Given the description of an element on the screen output the (x, y) to click on. 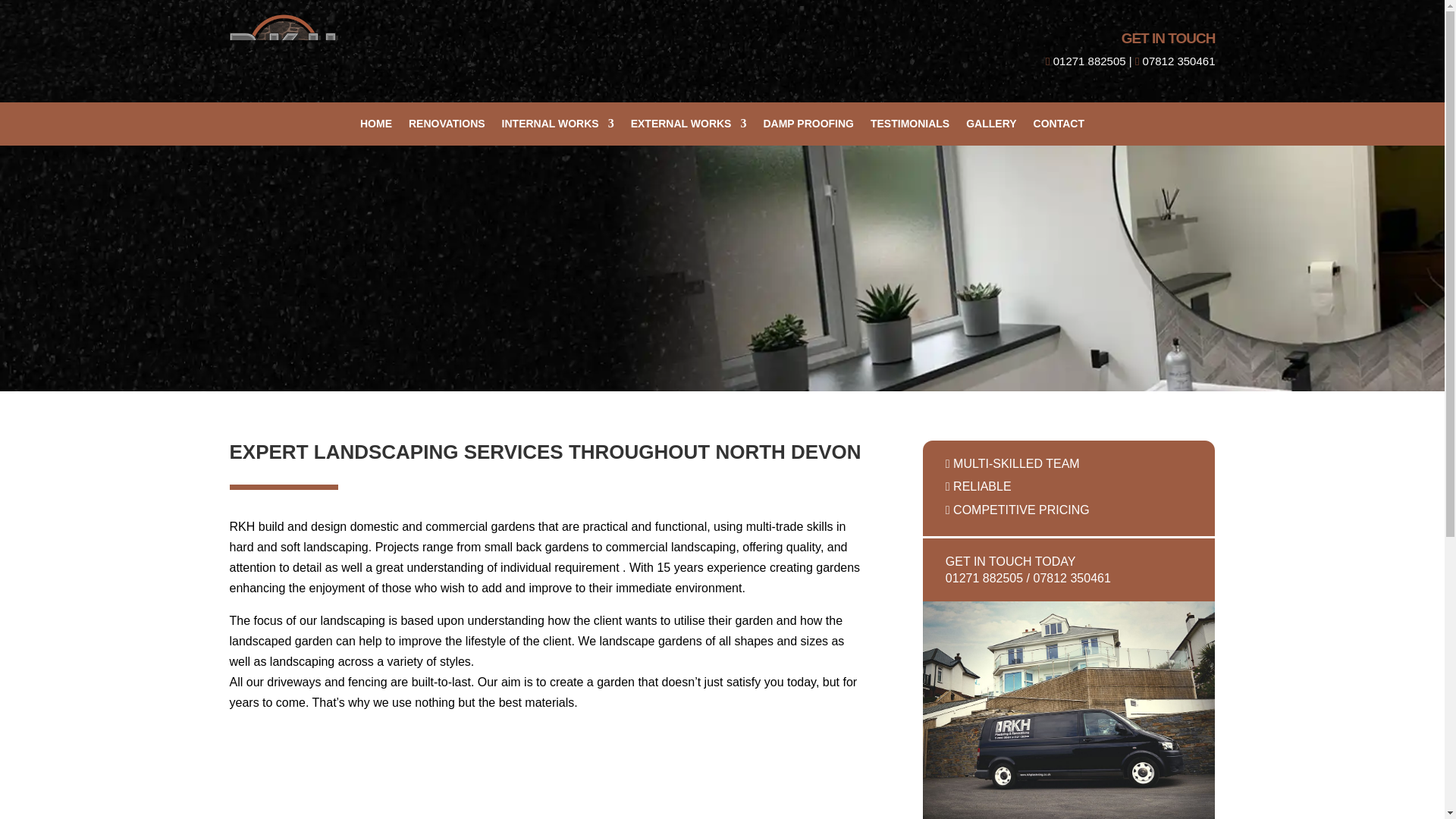
TESTIMONIALS (909, 126)
CONTACT (1058, 126)
EXTERNAL WORKS (688, 126)
GALLERY (991, 126)
DAMP PROOFING (807, 126)
RKH Logo (282, 50)
RKH Van (1069, 710)
RENOVATIONS (446, 126)
HOME (375, 126)
INTERNAL WORKS (558, 126)
